Given the description of an element on the screen output the (x, y) to click on. 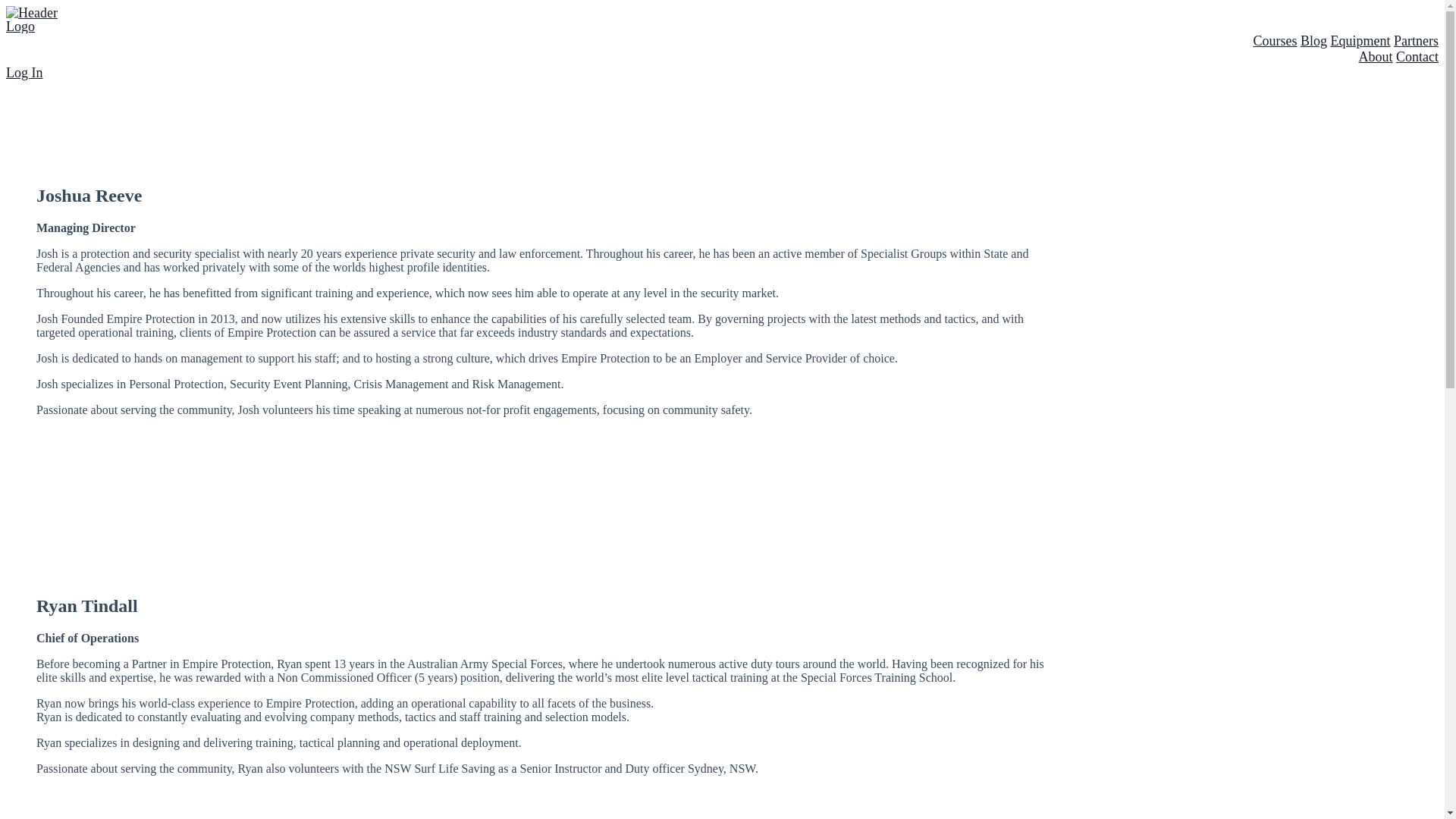
Log In Element type: text (24, 72)
Equipment Element type: text (1360, 40)
Partners Element type: text (1415, 40)
Contact Element type: text (1417, 56)
Blog Element type: text (1313, 40)
Courses Element type: text (1274, 40)
About Element type: text (1375, 56)
